Given the description of an element on the screen output the (x, y) to click on. 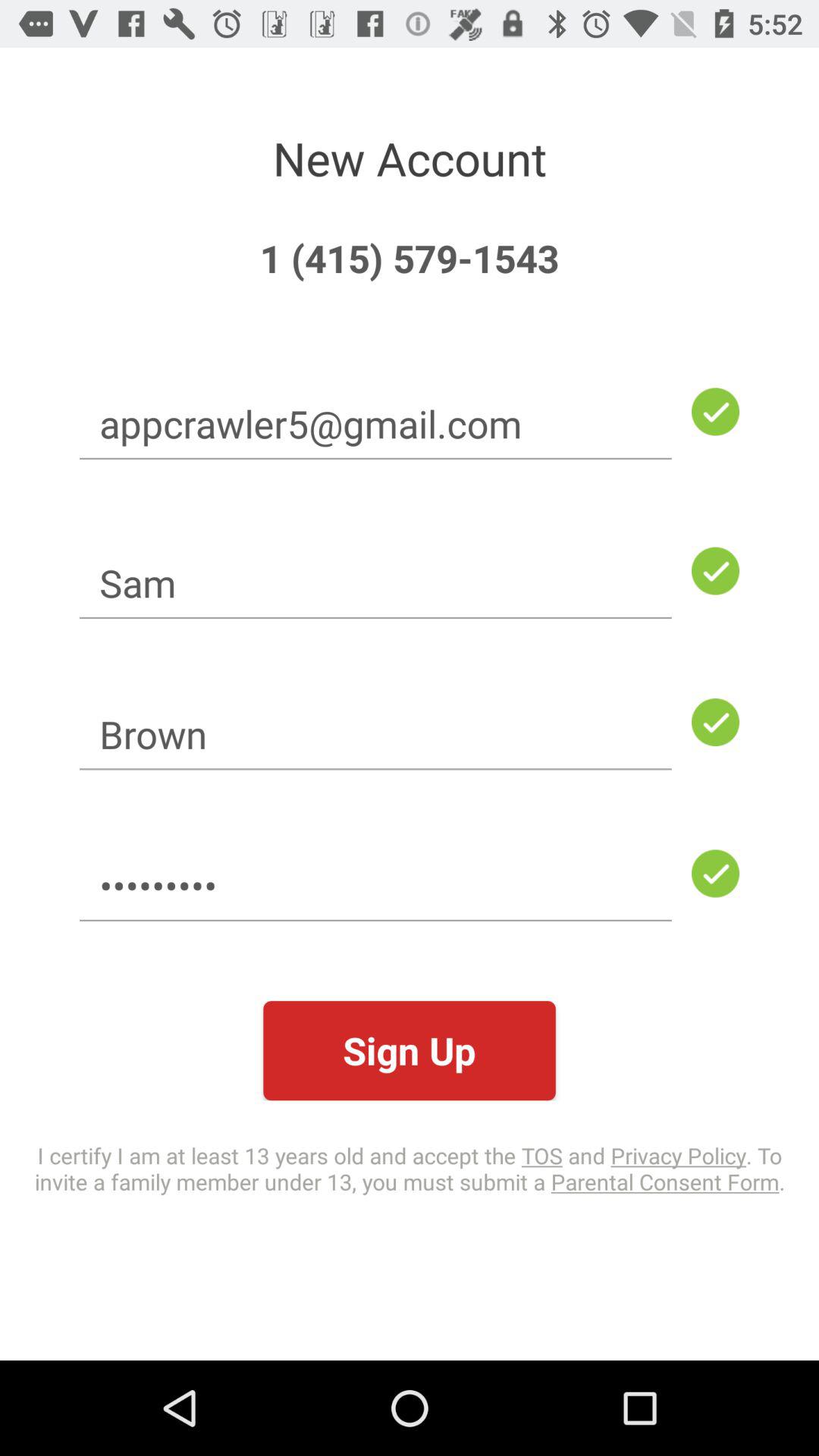
flip to appcrawler5@gmail.com icon (375, 423)
